Given the description of an element on the screen output the (x, y) to click on. 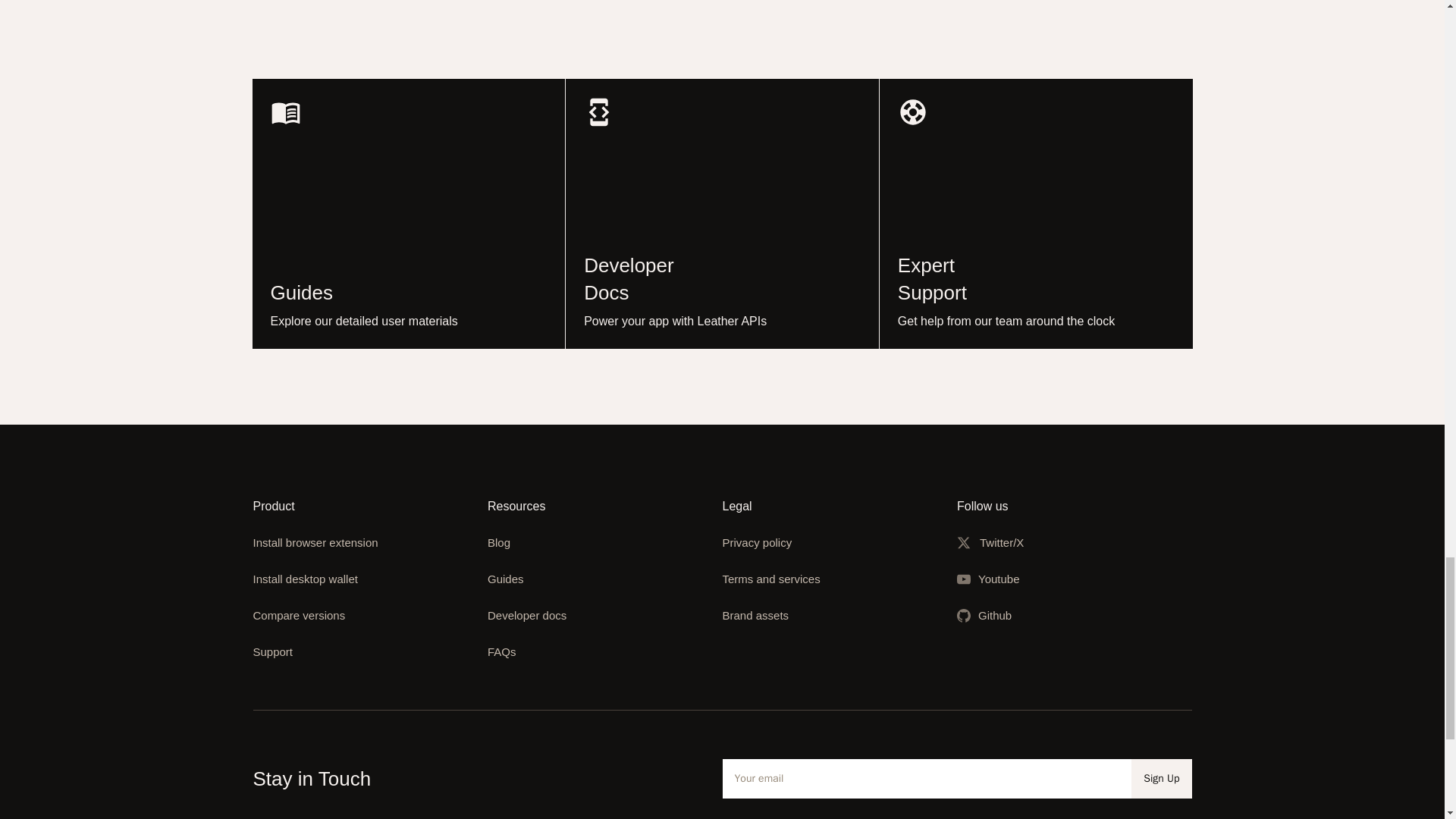
Github (994, 615)
Blog (407, 213)
Support (499, 542)
Install desktop wallet (273, 651)
Guides (305, 578)
FAQs (722, 213)
Brand assets (505, 578)
Install browser extension (501, 651)
